Given the description of an element on the screen output the (x, y) to click on. 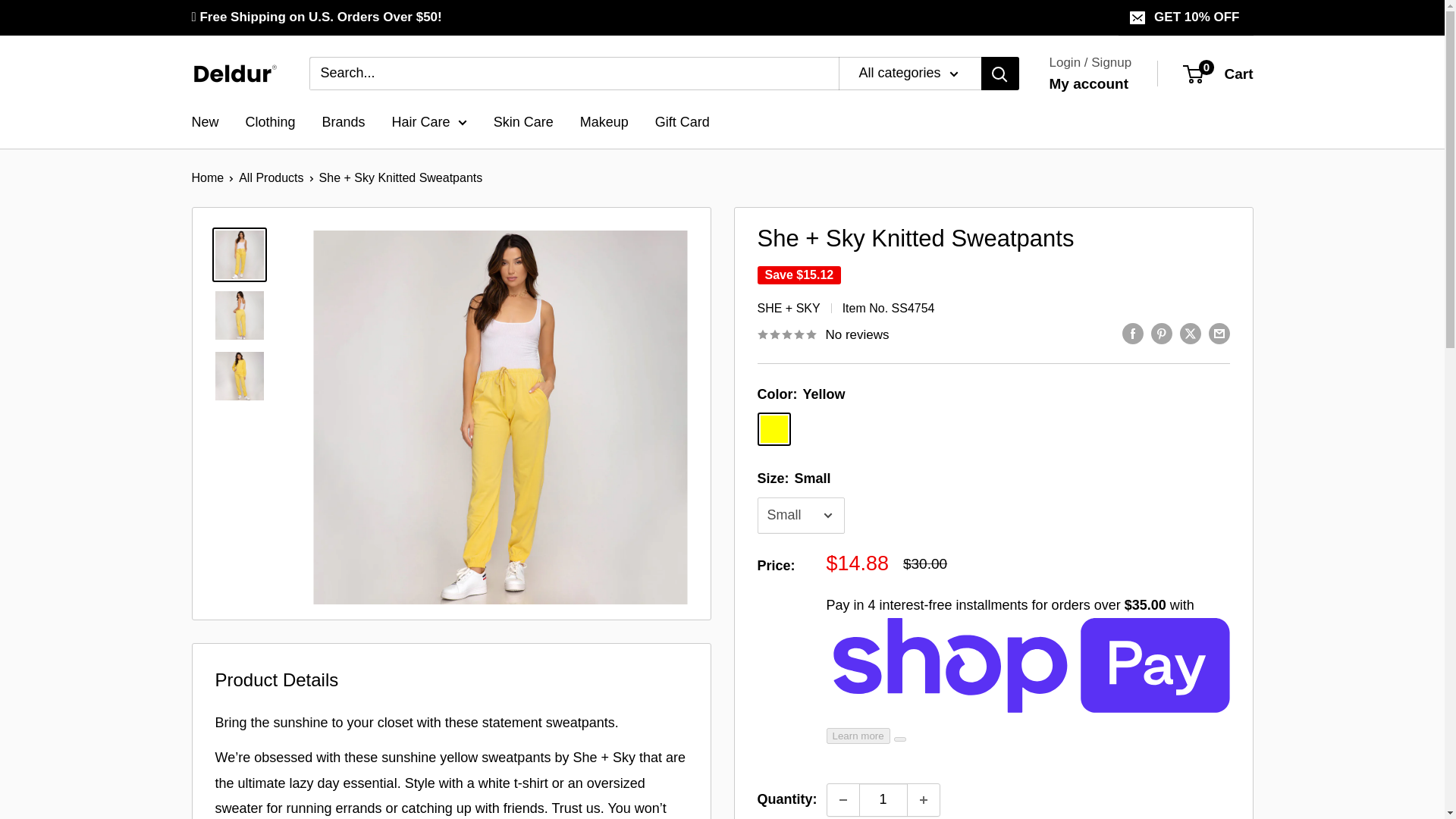
Deldur.com (234, 73)
New (204, 122)
Clothing (270, 122)
1 (883, 799)
Increase quantity by 1 (923, 799)
Yellow (773, 429)
My account (1218, 73)
Brands (1089, 83)
Decrease quantity by 1 (343, 122)
